Given the description of an element on the screen output the (x, y) to click on. 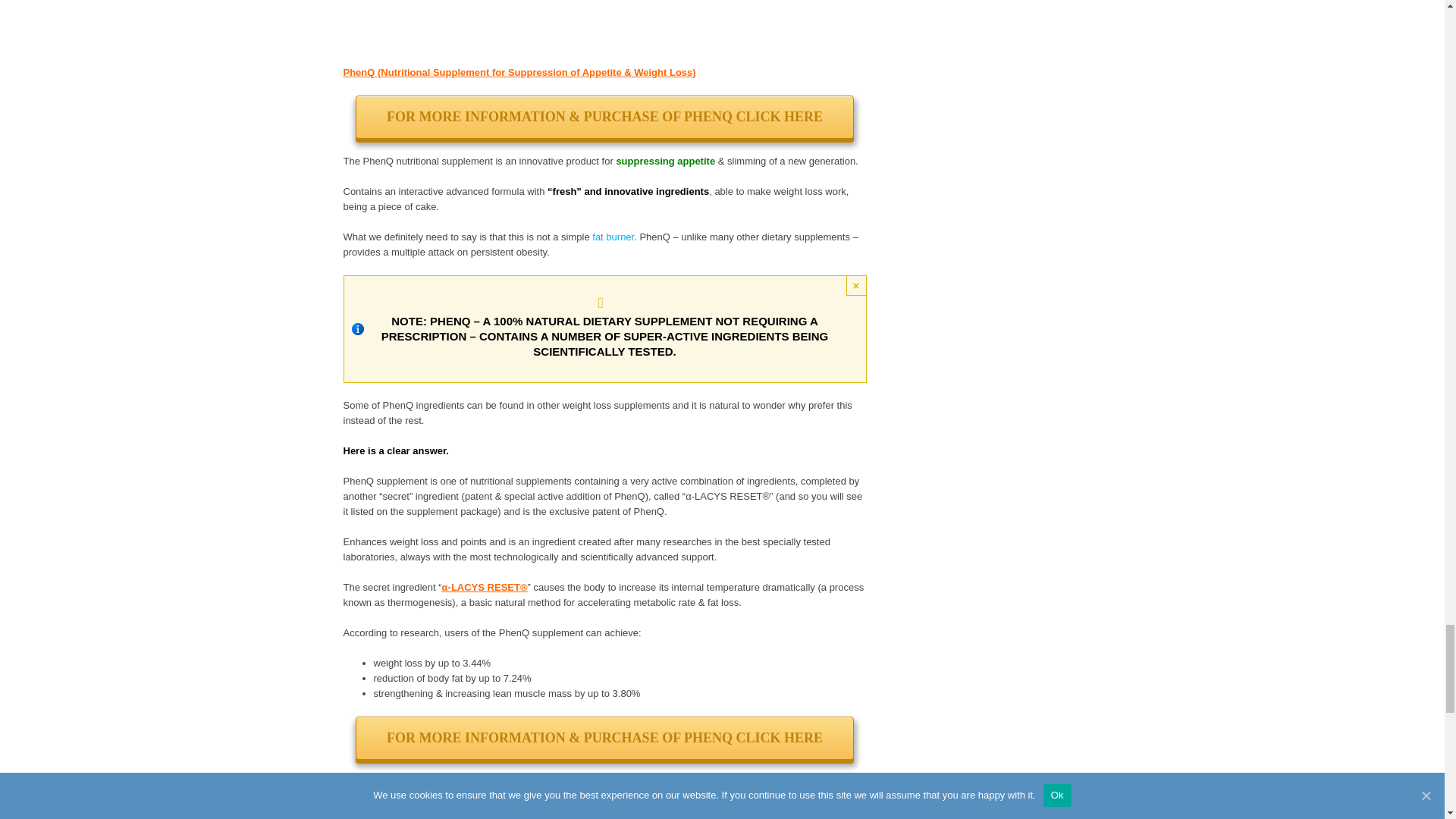
fat burner (612, 236)
